Given the description of an element on the screen output the (x, y) to click on. 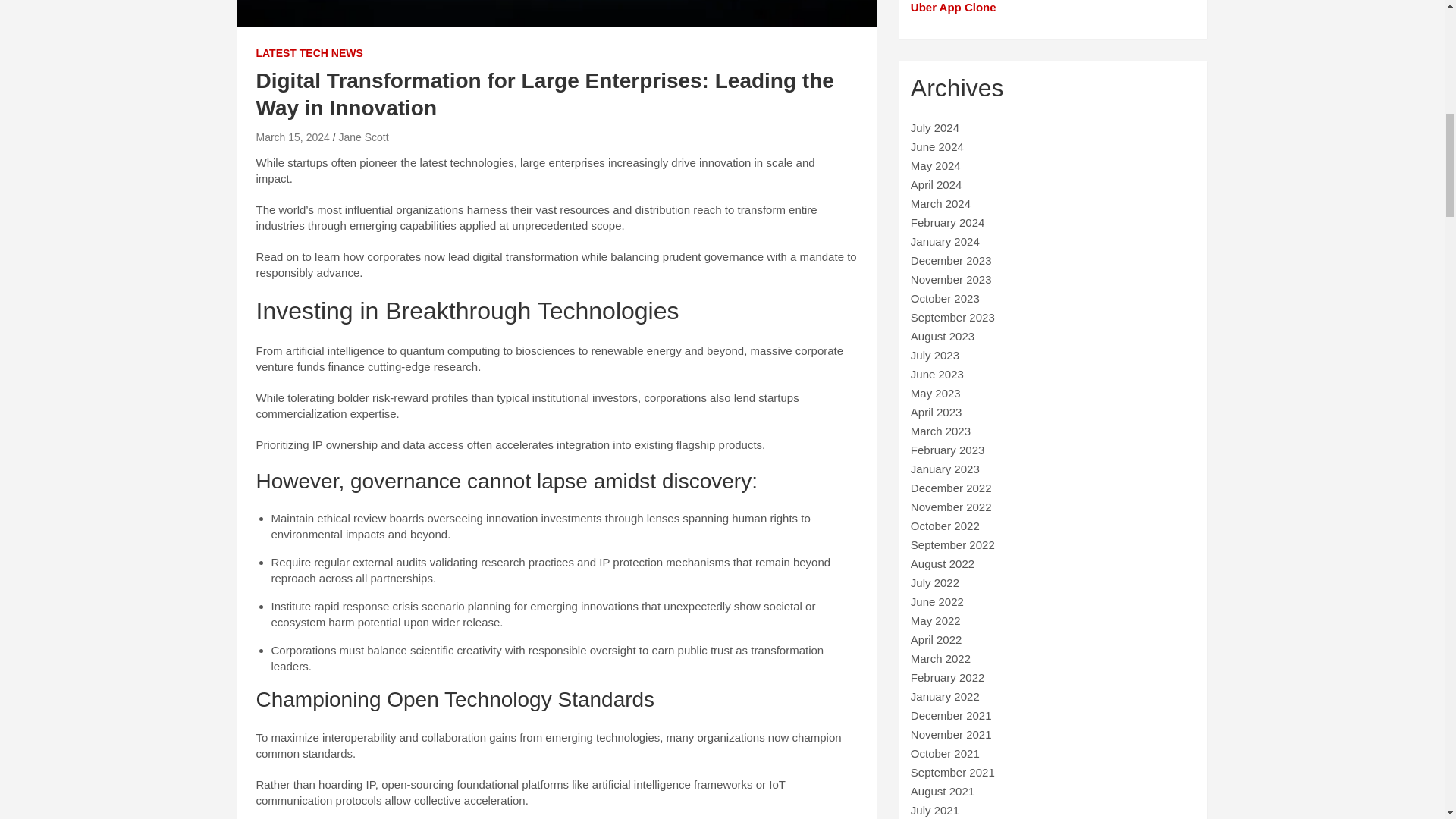
Jane Scott (362, 137)
LATEST TECH NEWS (309, 53)
March 15, 2024 (293, 137)
